Given the description of an element on the screen output the (x, y) to click on. 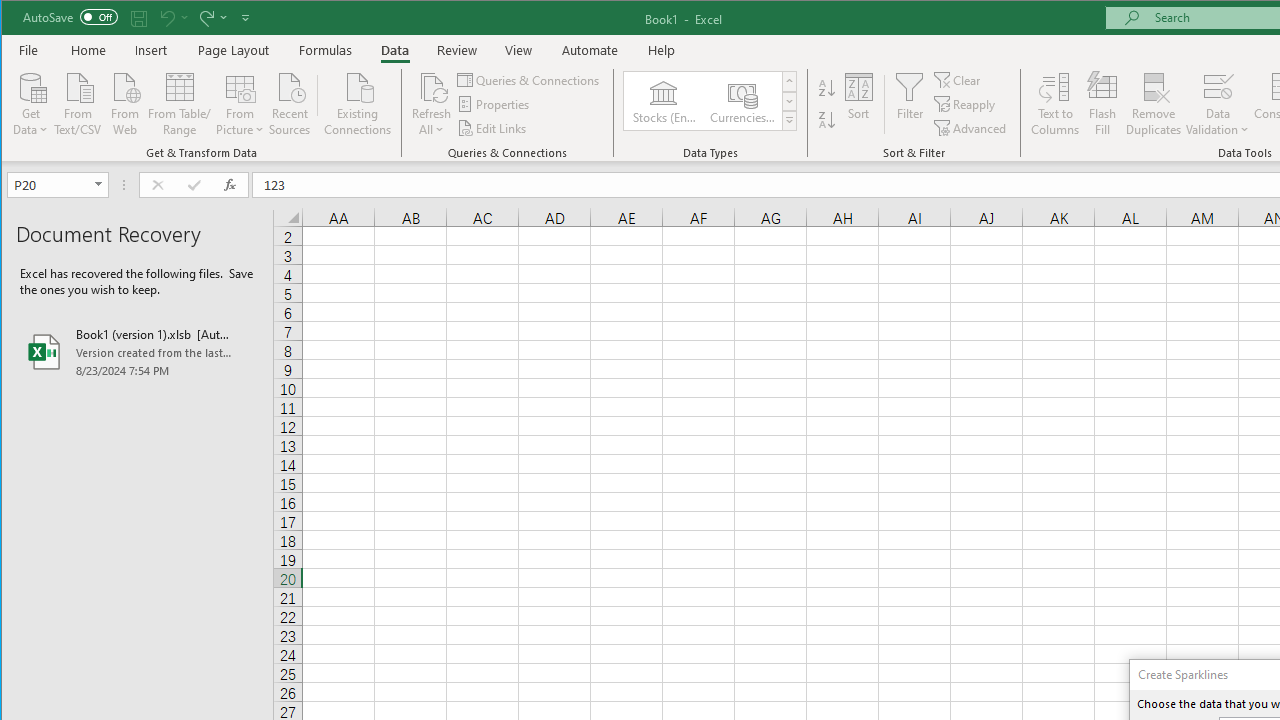
Sort Largest to Smallest (827, 119)
